Given the description of an element on the screen output the (x, y) to click on. 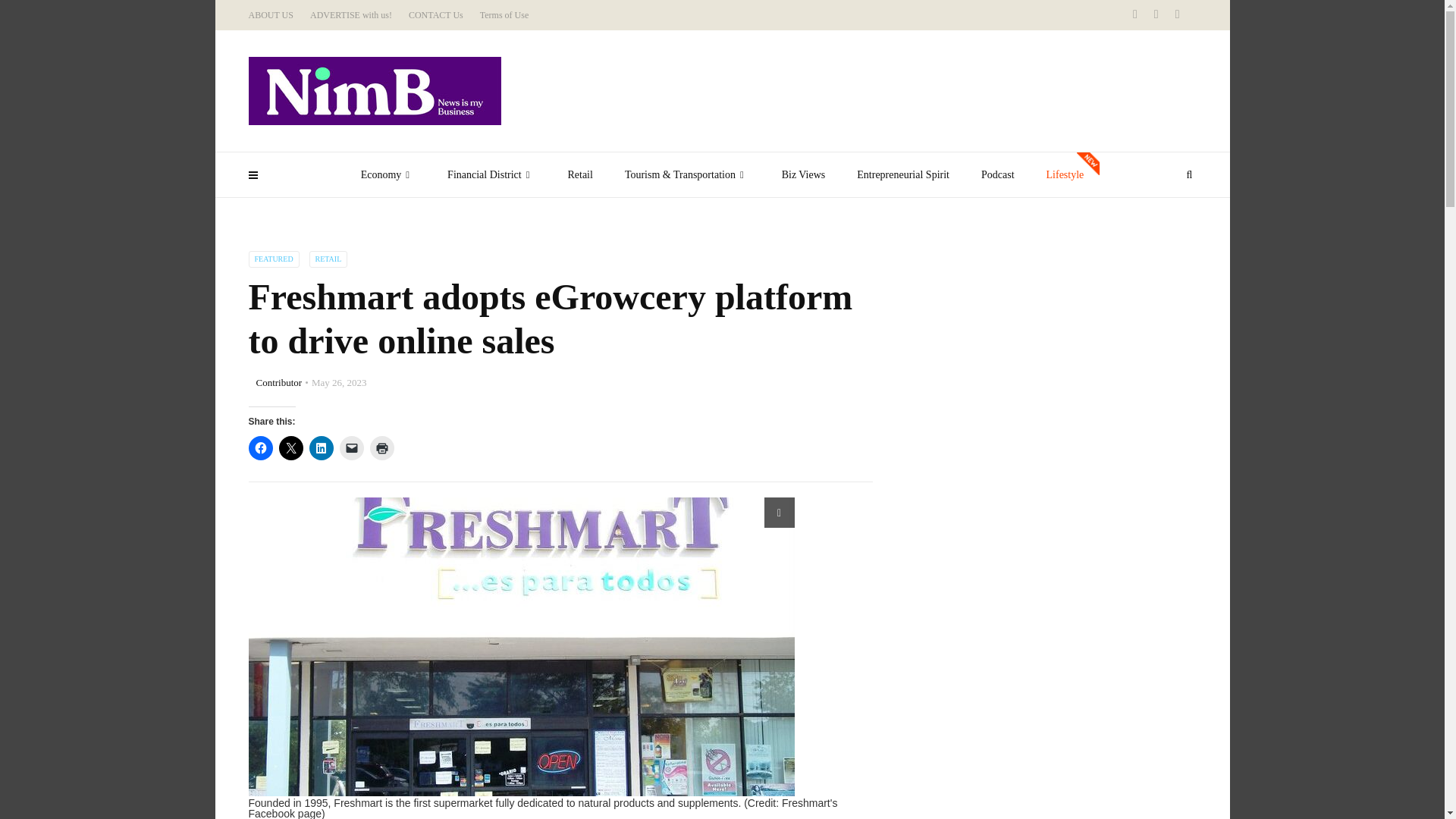
Click to share on Facebook (260, 447)
Lifestyle (1065, 174)
ABOUT US (271, 15)
Click to share on LinkedIn (320, 447)
Click to share on X (290, 447)
3rd party ad content (1008, 747)
3rd party ad content (1008, 345)
CONTACT Us (436, 15)
ADVERTISE with us! (350, 15)
Terms of Use (504, 15)
